Given the description of an element on the screen output the (x, y) to click on. 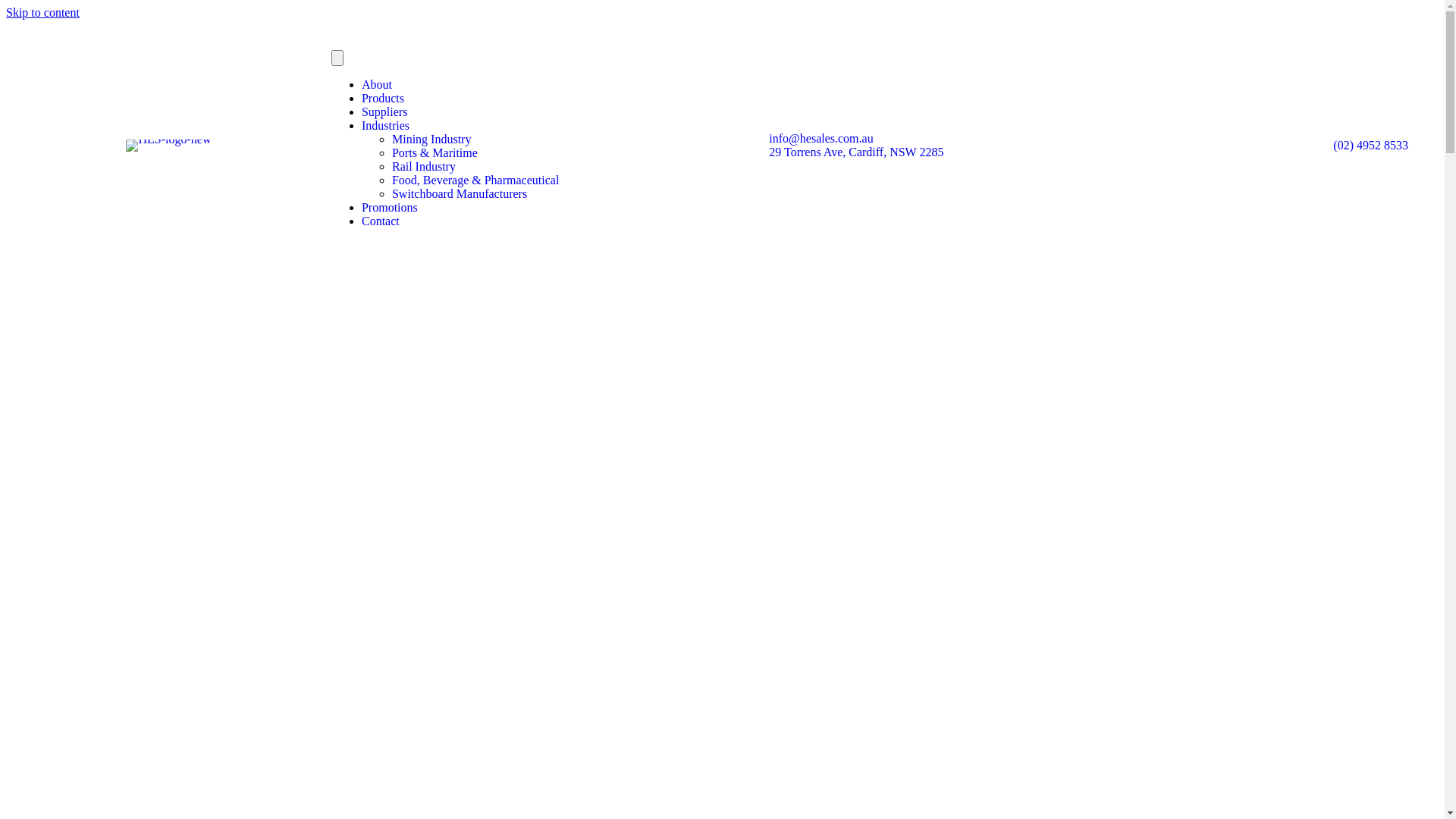
About Element type: text (376, 84)
29 Torrens Ave, Cardiff, NSW 2285 Element type: text (855, 151)
(02) 4952 8533 Element type: text (842, 803)
(02) 4952 8533 Element type: text (1370, 144)
Switchboard Manufacturers Element type: text (459, 193)
info@hesales.com.au Element type: text (820, 137)
Promotions Element type: text (389, 206)
Industries Element type: text (385, 125)
Contact Element type: text (380, 220)
Ports & Maritime Element type: text (434, 152)
Suppliers Element type: text (384, 111)
Mining Industry Element type: text (431, 138)
HES-logo-new Element type: hover (167, 145)
Products Element type: text (382, 97)
Rail Industry Element type: text (423, 166)
Food, Beverage & Pharmaceutical Element type: text (475, 179)
Skip to content Element type: text (42, 12)
